Given the description of an element on the screen output the (x, y) to click on. 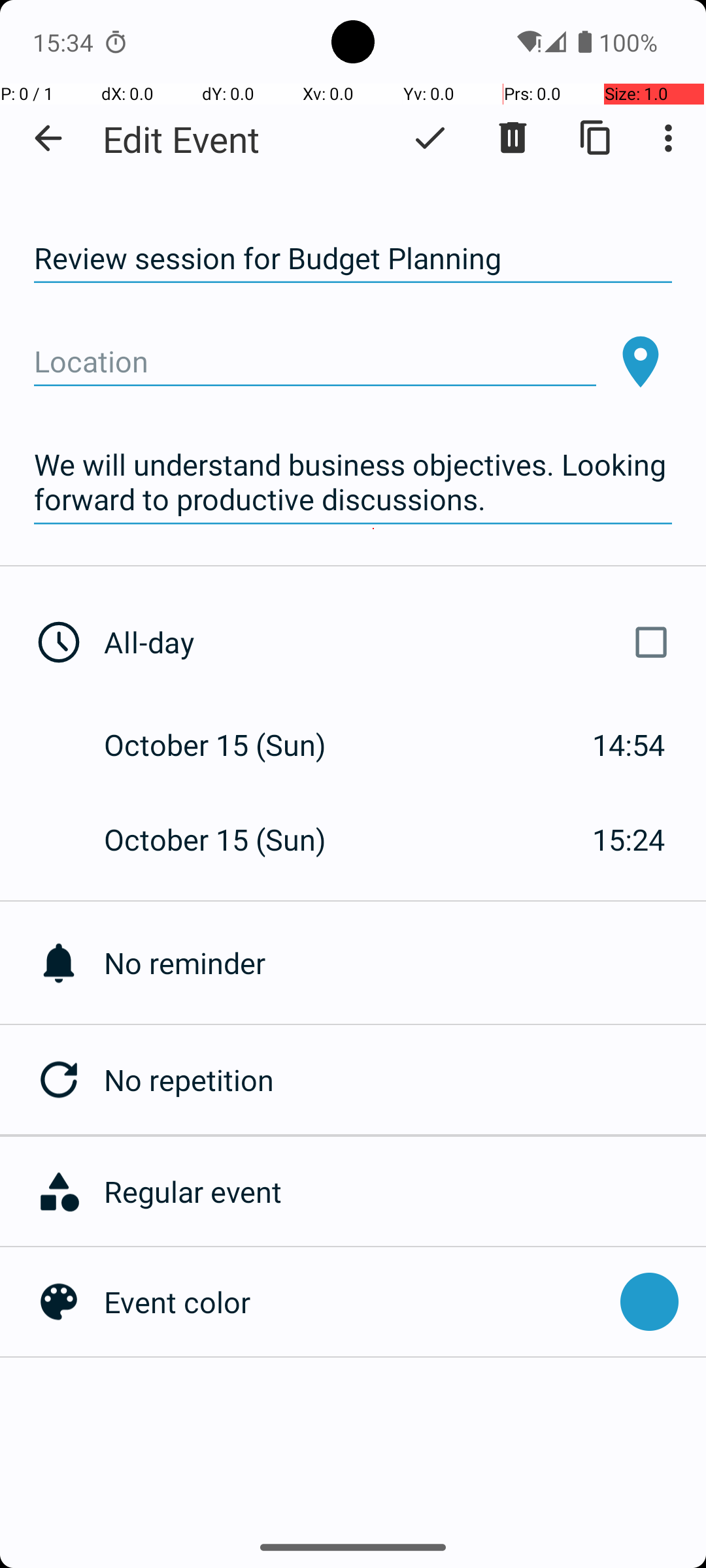
We will understand business objectives. Looking forward to productive discussions. Element type: android.widget.EditText (352, 482)
14:54 Element type: android.widget.TextView (628, 744)
15:24 Element type: android.widget.TextView (628, 838)
